Given the description of an element on the screen output the (x, y) to click on. 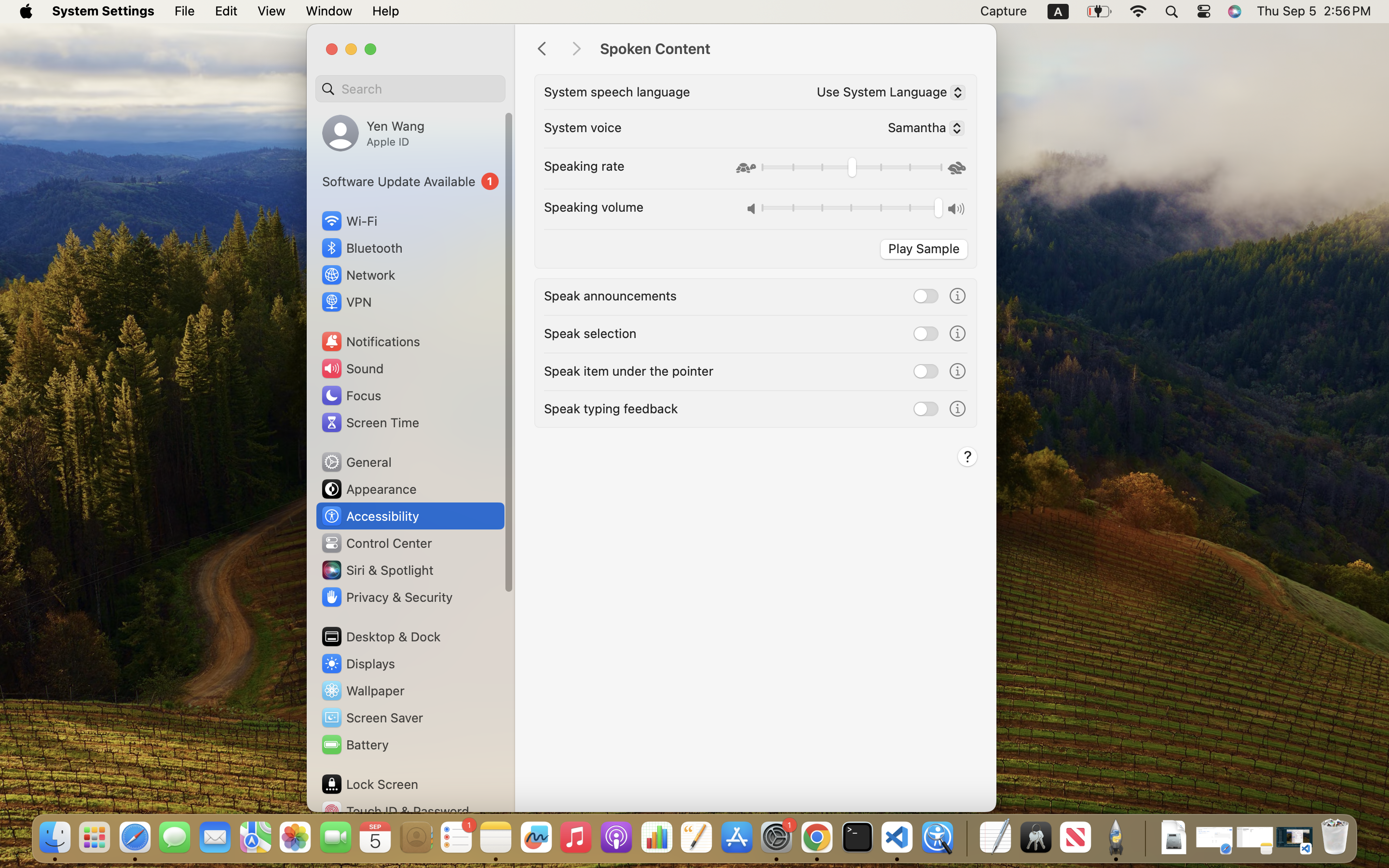
Privacy & Security Element type: AXStaticText (386, 596)
Focus Element type: AXStaticText (350, 394)
1.0 Element type: AXSlider (851, 208)
General Element type: AXStaticText (355, 461)
